Given the description of an element on the screen output the (x, y) to click on. 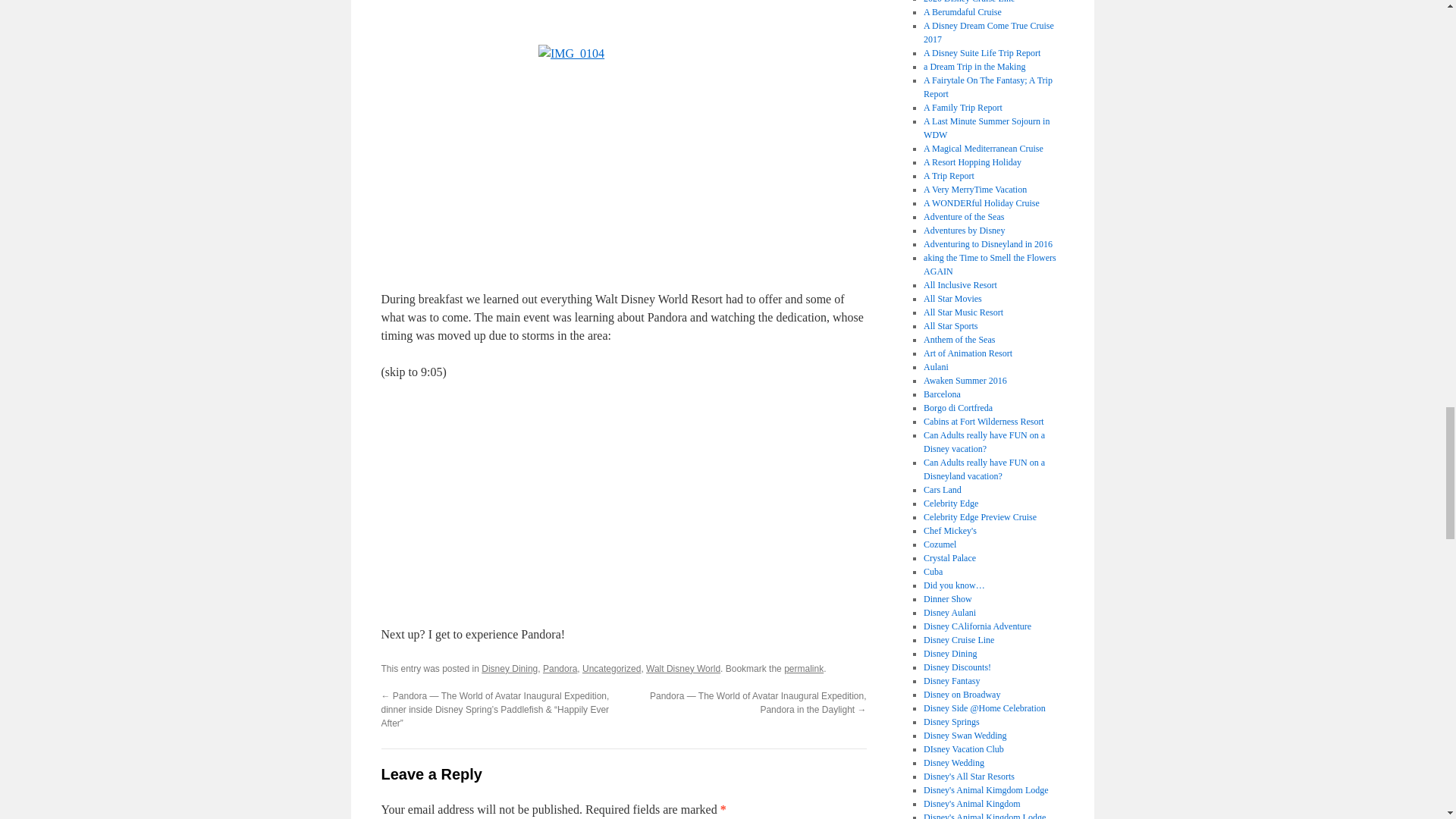
Pandora (559, 668)
Walt Disney World (683, 668)
Uncategorized (611, 668)
Disney Dining (509, 668)
